Given the description of an element on the screen output the (x, y) to click on. 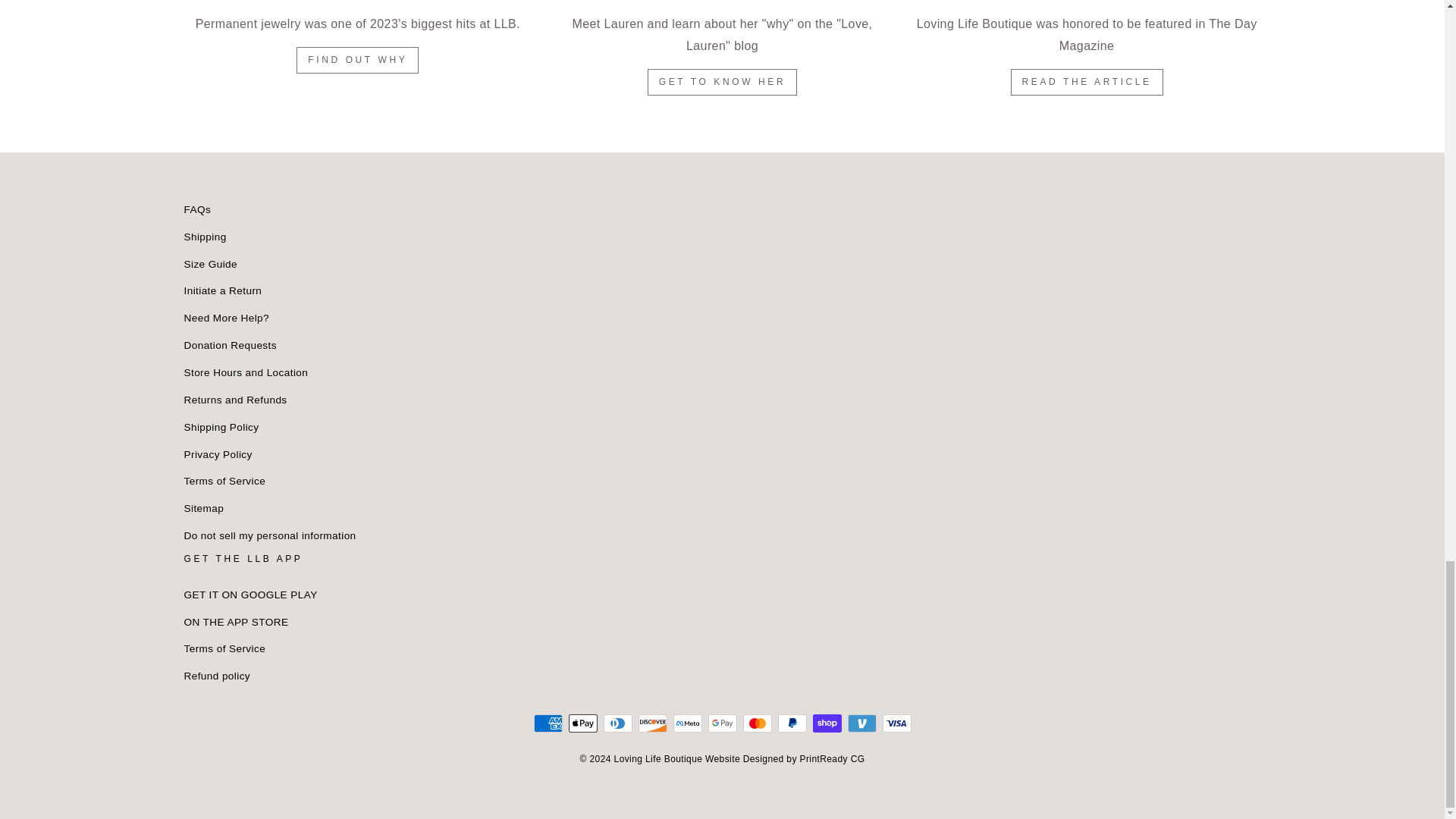
Google Pay (721, 723)
Visa (896, 723)
Venmo (861, 723)
Diners Club (617, 723)
Mastercard (756, 723)
Discover (652, 723)
Apple Pay (582, 723)
Meta Pay (686, 723)
Shop Pay (826, 723)
American Express (548, 723)
PayPal (791, 723)
